Given the description of an element on the screen output the (x, y) to click on. 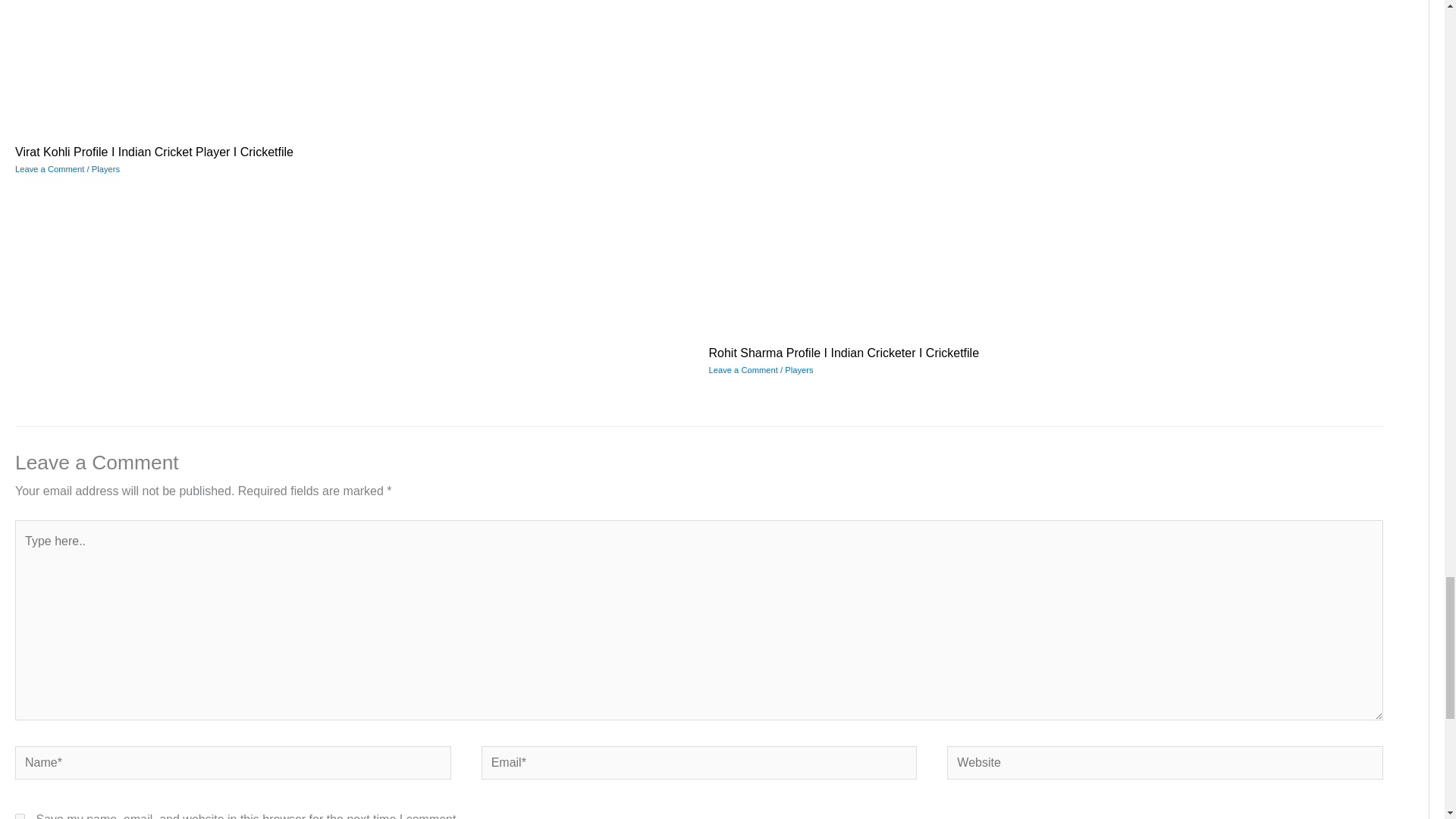
yes (19, 816)
